Given the description of an element on the screen output the (x, y) to click on. 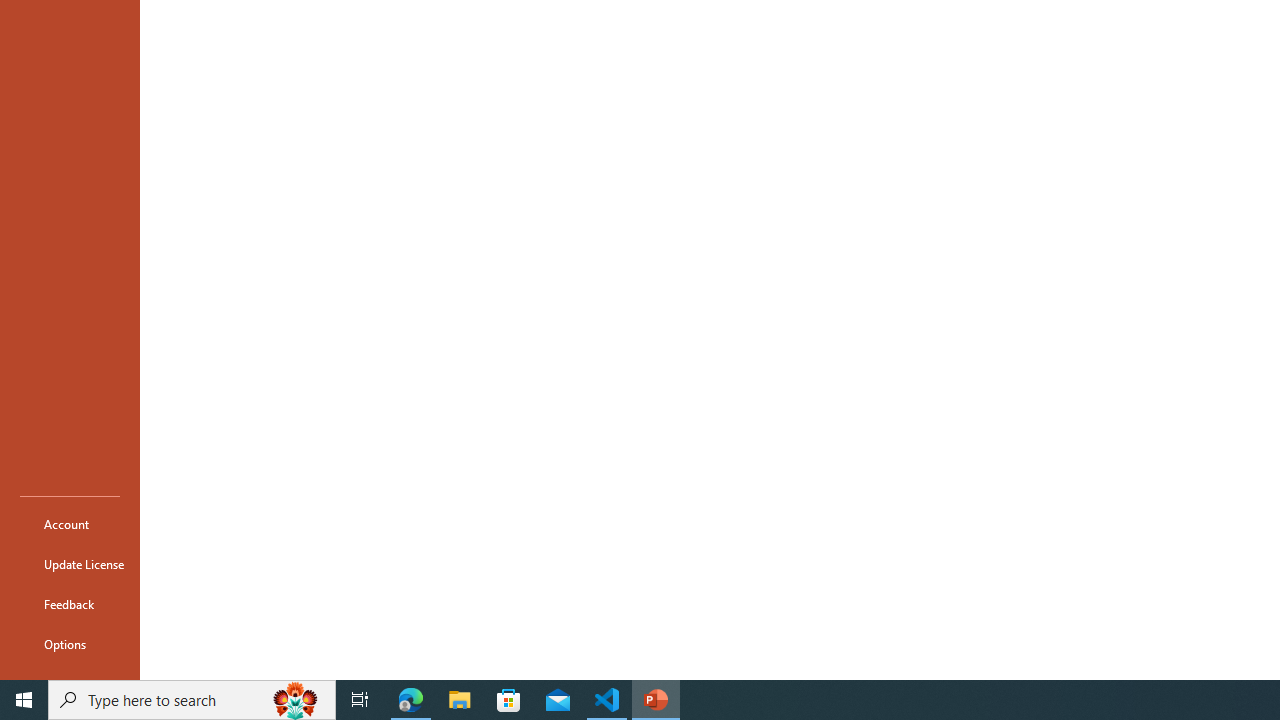
Update License (69, 563)
Options (69, 643)
Account (69, 523)
Feedback (69, 603)
